Given the description of an element on the screen output the (x, y) to click on. 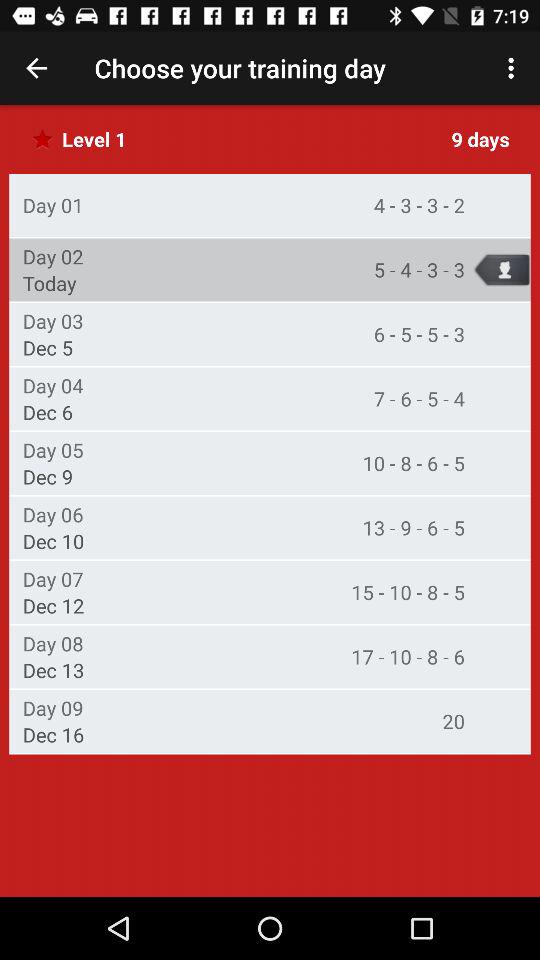
turn on item above the level 1 (36, 68)
